Given the description of an element on the screen output the (x, y) to click on. 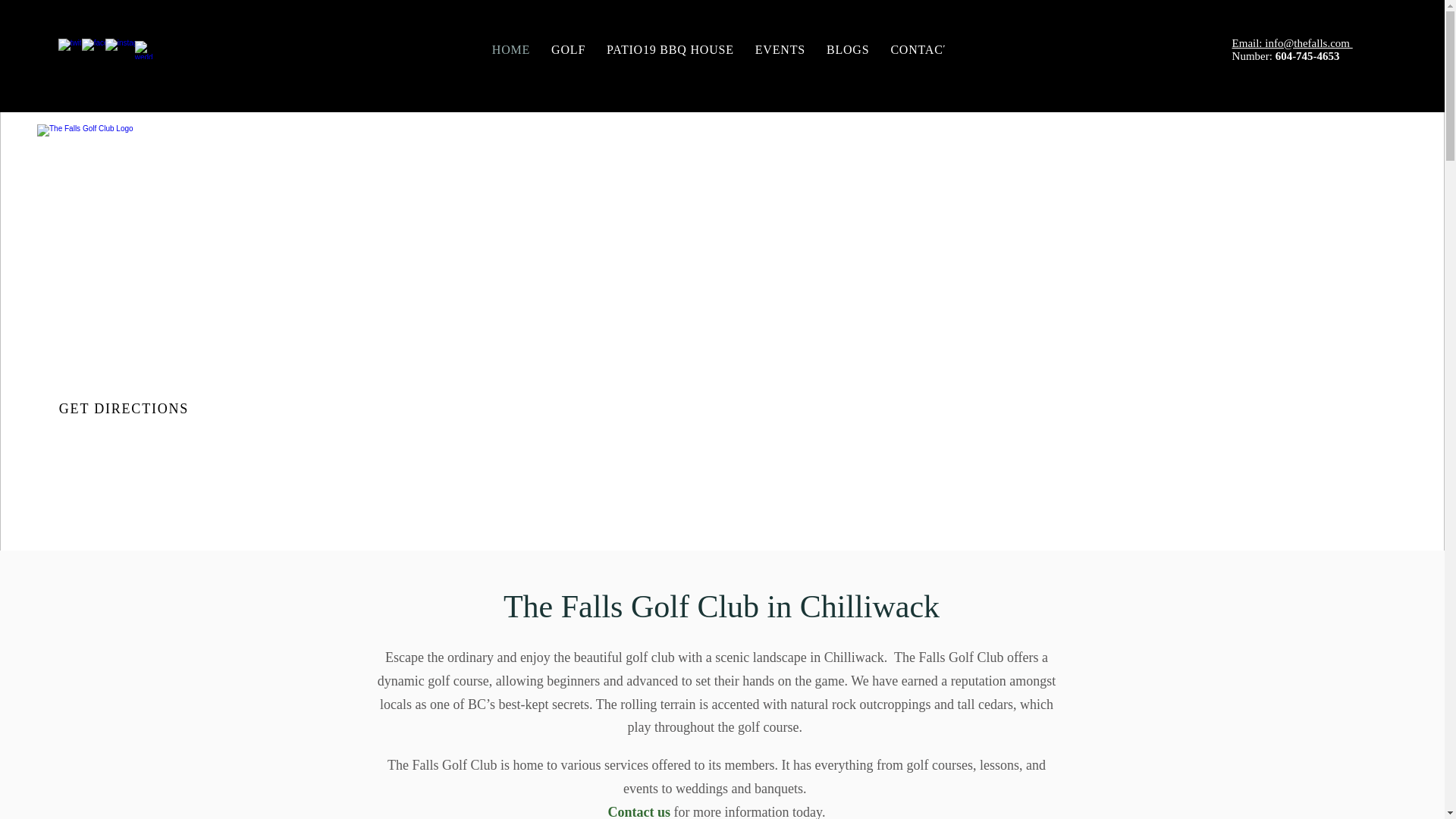
PATIO19 BBQ HOUSE (669, 49)
Contact us (714, 49)
EVENTS (639, 811)
GET DIRECTIONS (780, 49)
CONTACT (125, 408)
BLOGS (920, 49)
604-745-4653 (847, 49)
